Given the description of an element on the screen output the (x, y) to click on. 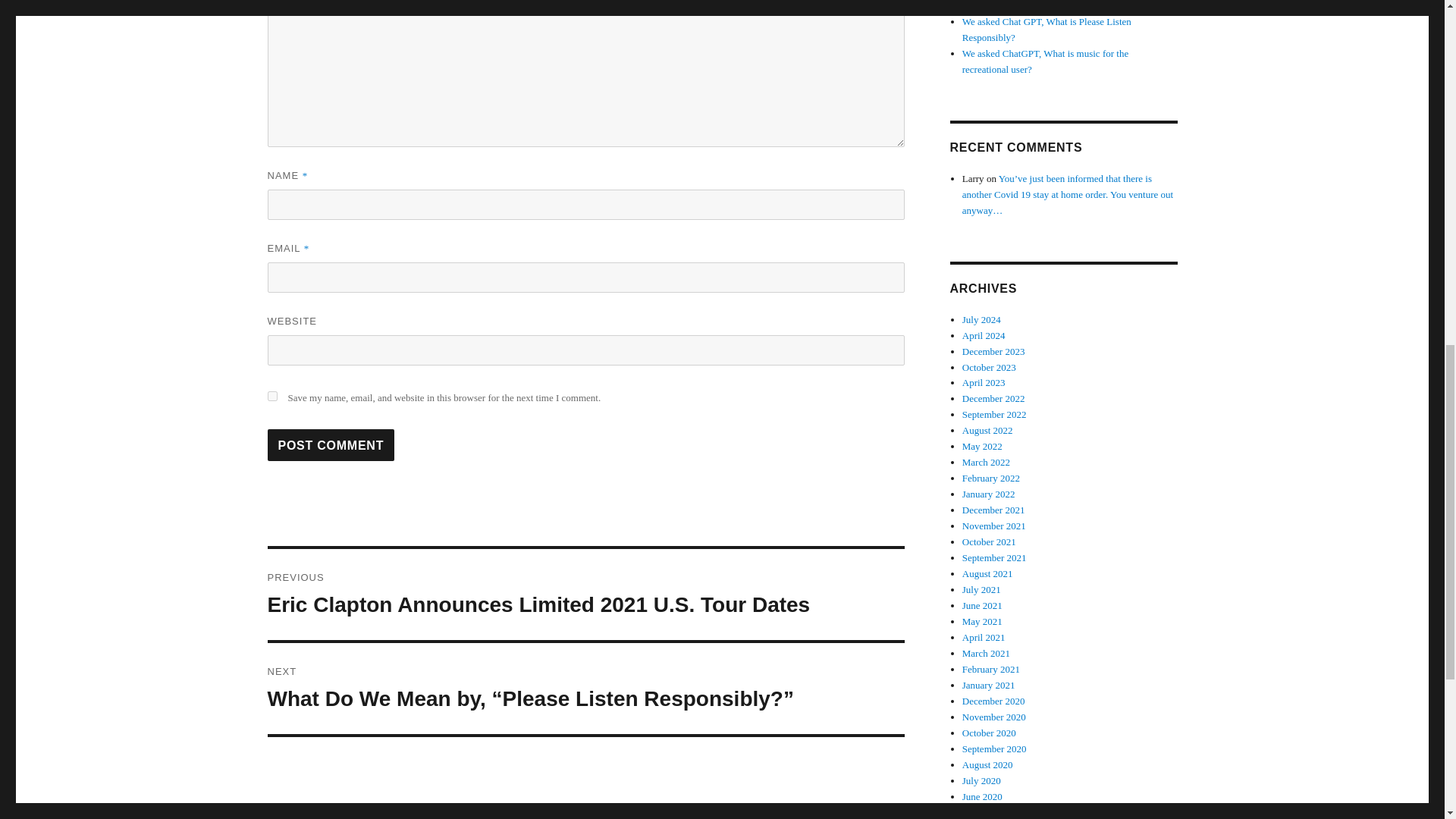
December 2021 (993, 509)
February 2021 (991, 668)
August 2022 (987, 430)
We asked Chat GPT, What is Please Listen Responsibly? (1046, 29)
July 2024 (981, 319)
Post Comment (330, 445)
April 2021 (984, 636)
March 2021 (986, 653)
December 2022 (993, 398)
February 2022 (991, 478)
